Given the description of an element on the screen output the (x, y) to click on. 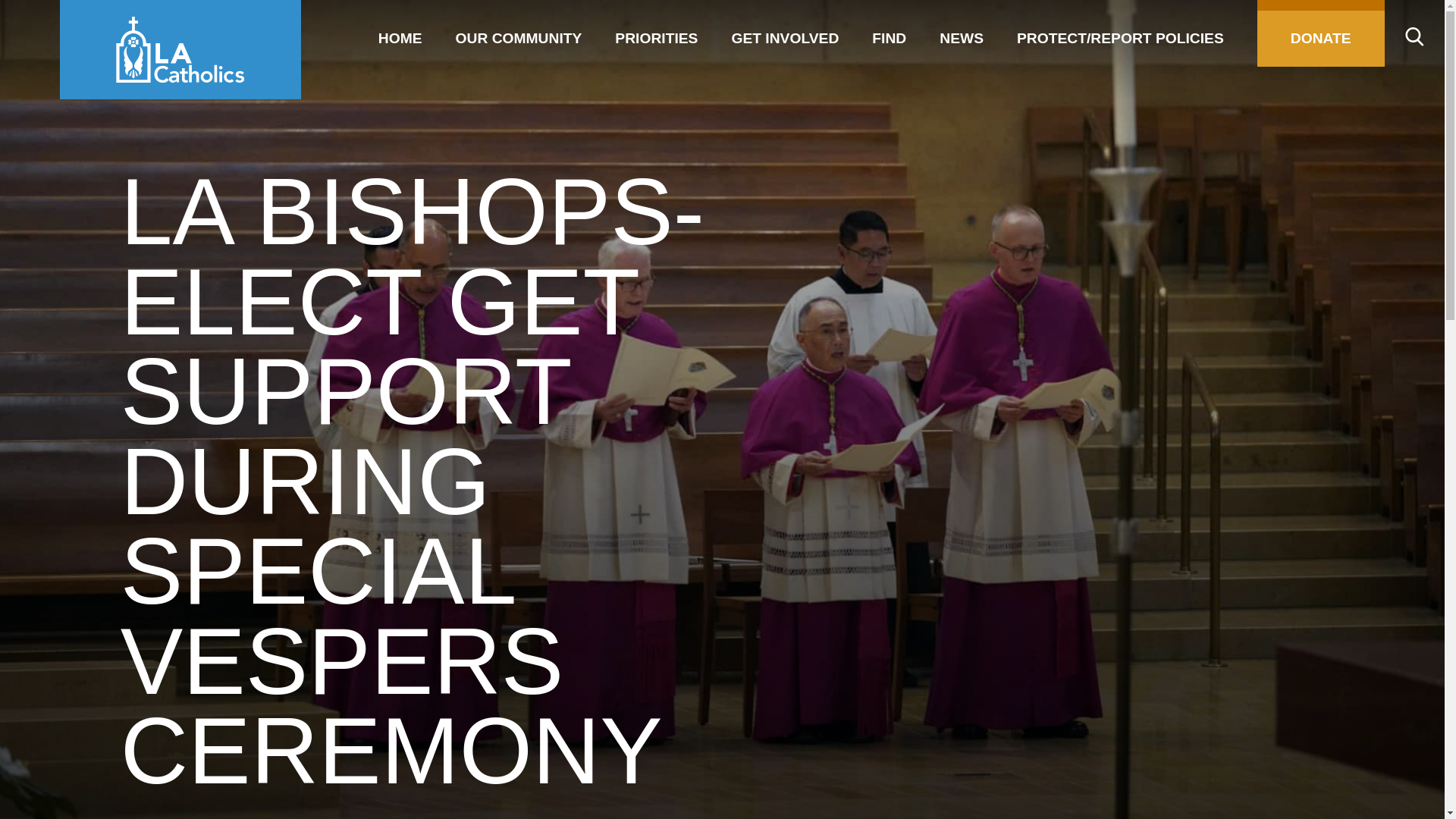
HOME (400, 33)
OUR COMMUNITY (518, 33)
Catholic LA (180, 49)
